Given the description of an element on the screen output the (x, y) to click on. 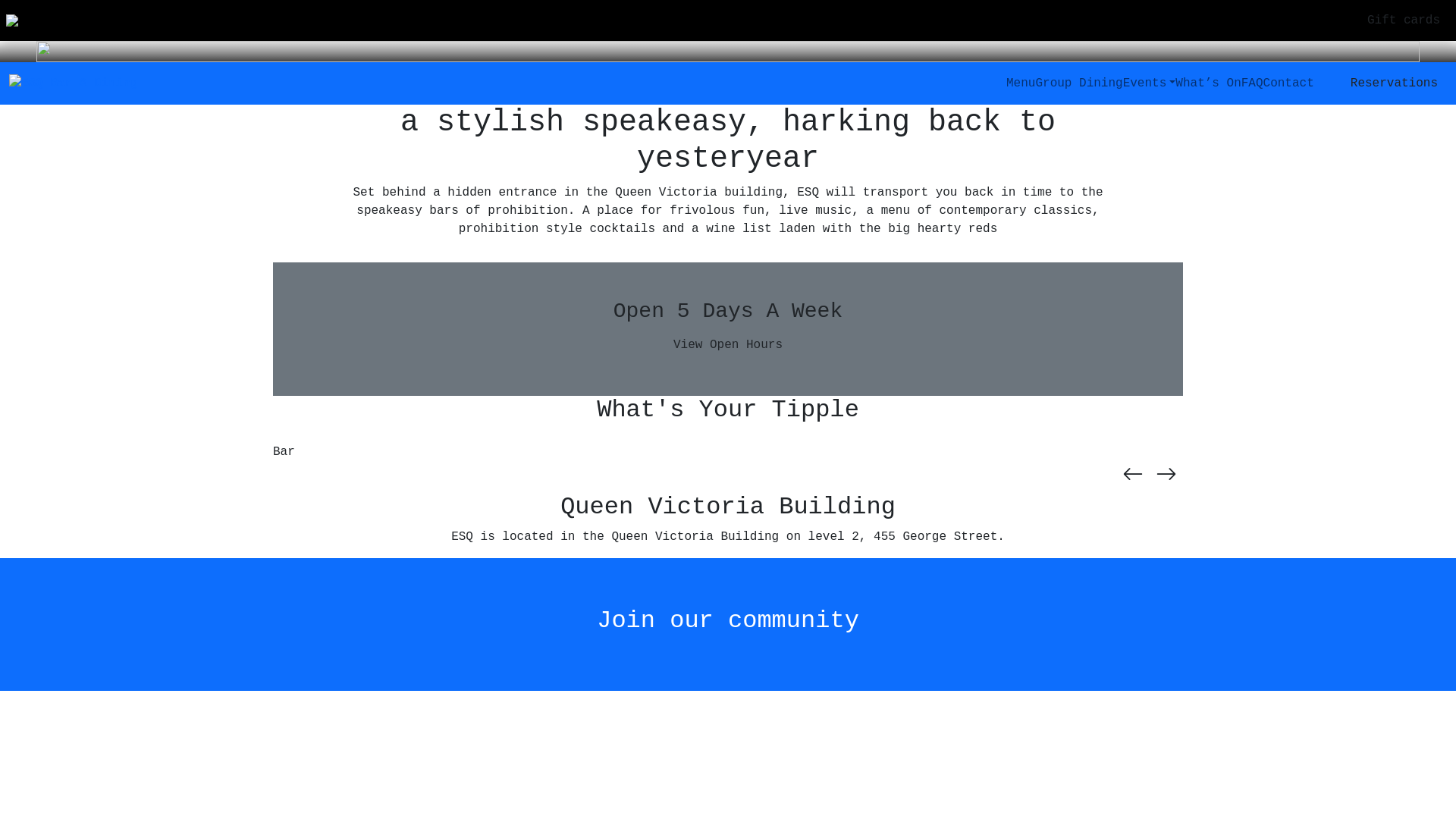
FAQ Element type: text (1252, 83)
ESQ Bar & Dining Element type: hover (73, 83)
ESQ Bar & Dining Element type: hover (12, 20)
View Open Hours Element type: text (727, 344)
ESQ Bar & Dining Element type: hover (73, 83)
Contact Element type: text (1288, 83)
Menu Element type: text (1020, 83)
Gift cards Element type: text (1403, 20)
Group Dining Element type: text (1078, 83)
Events Element type: text (1149, 83)
